Given the description of an element on the screen output the (x, y) to click on. 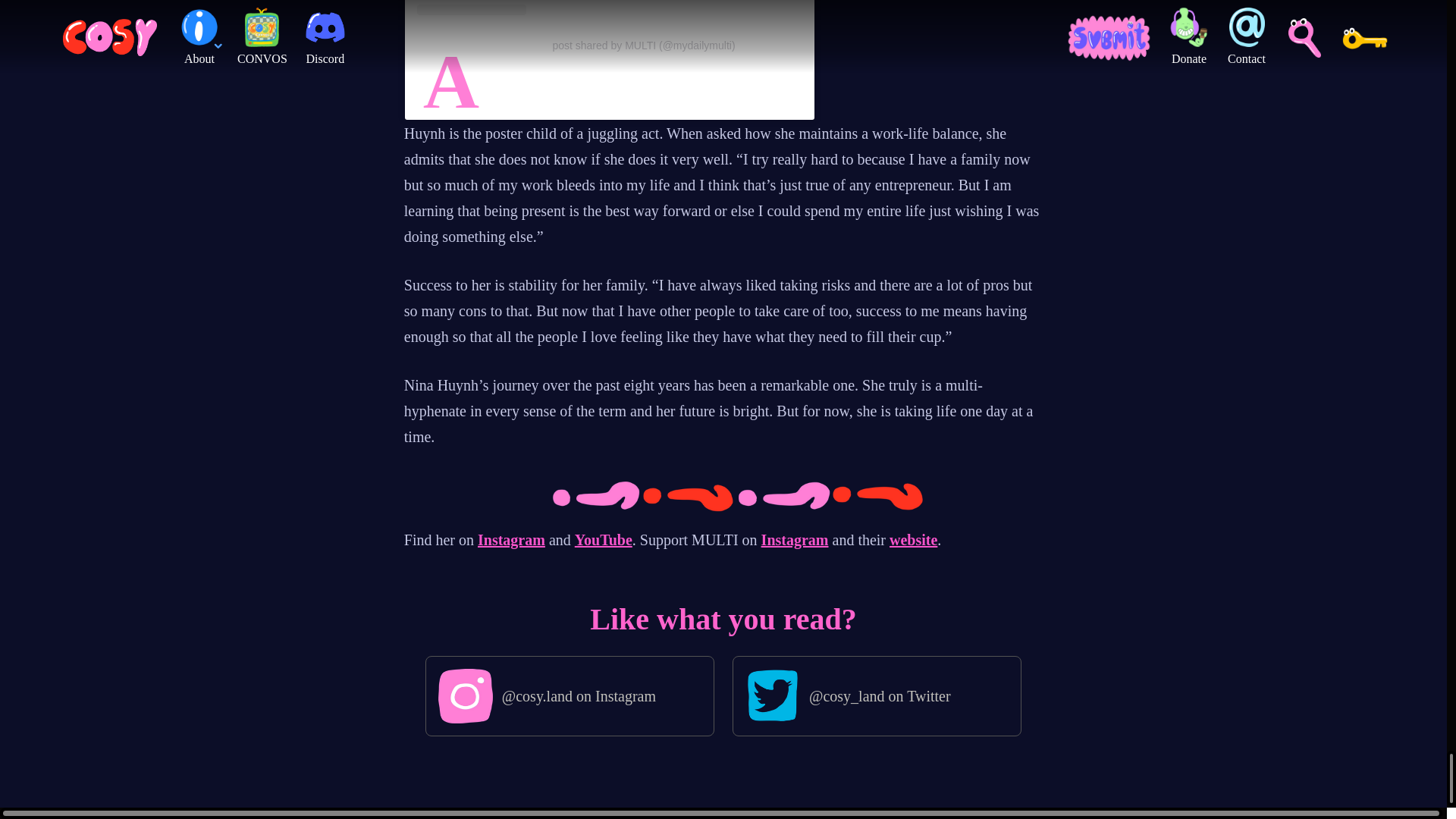
View this post on Instagram (609, 7)
